Given the description of an element on the screen output the (x, y) to click on. 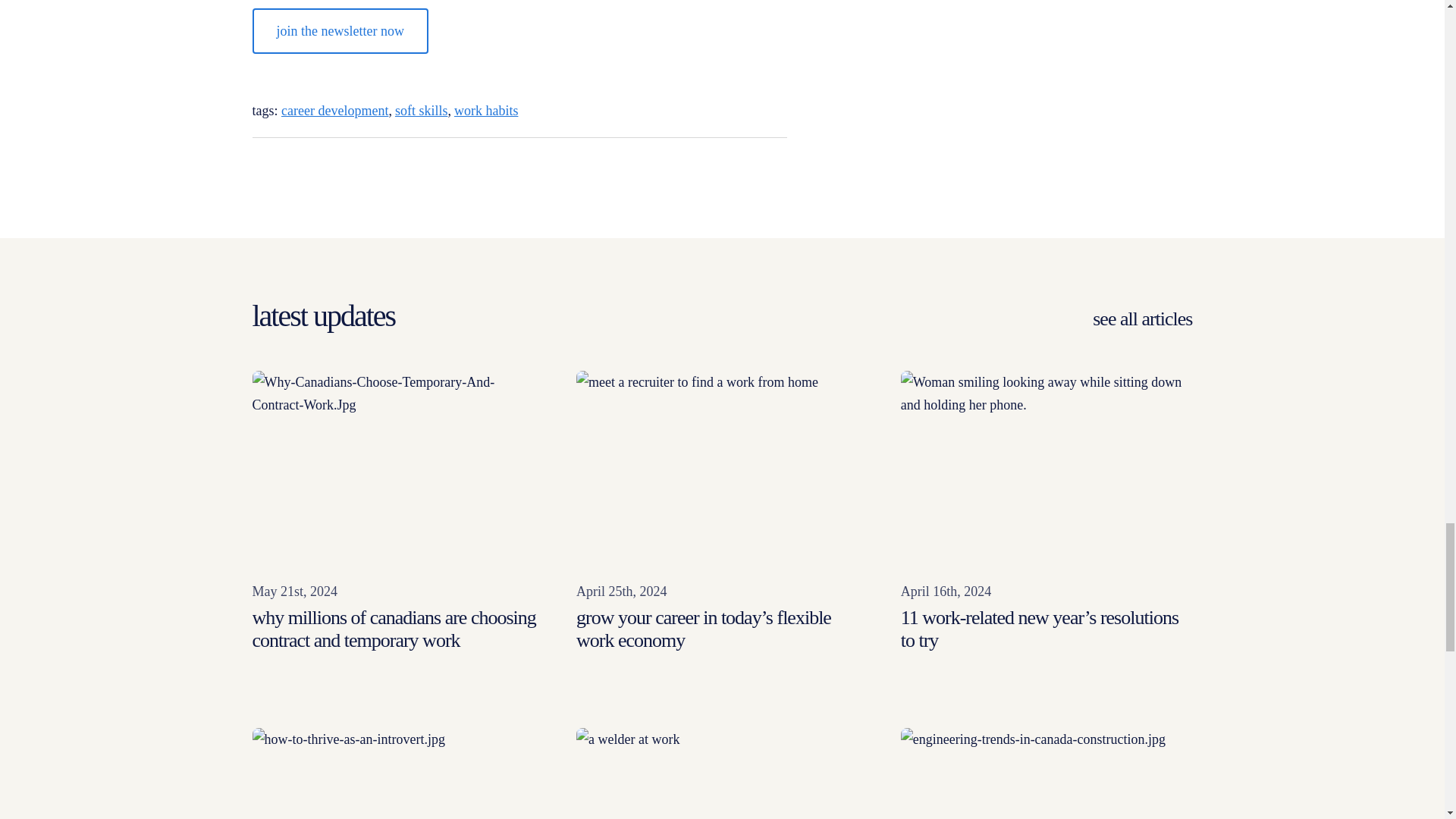
how-to-thrive-as-an-introvert.jpg (397, 773)
Why-Canadians-Choose-Temporary-And-Contract-Work.Jpg (397, 468)
email this article (258, 168)
a welder at work (721, 773)
print this article (289, 168)
share this article on linkedin (695, 165)
share this article on twitter (735, 165)
share this article on facebook (774, 165)
engineering-trends-in-canada-construction.jpg (1046, 773)
